Given the description of an element on the screen output the (x, y) to click on. 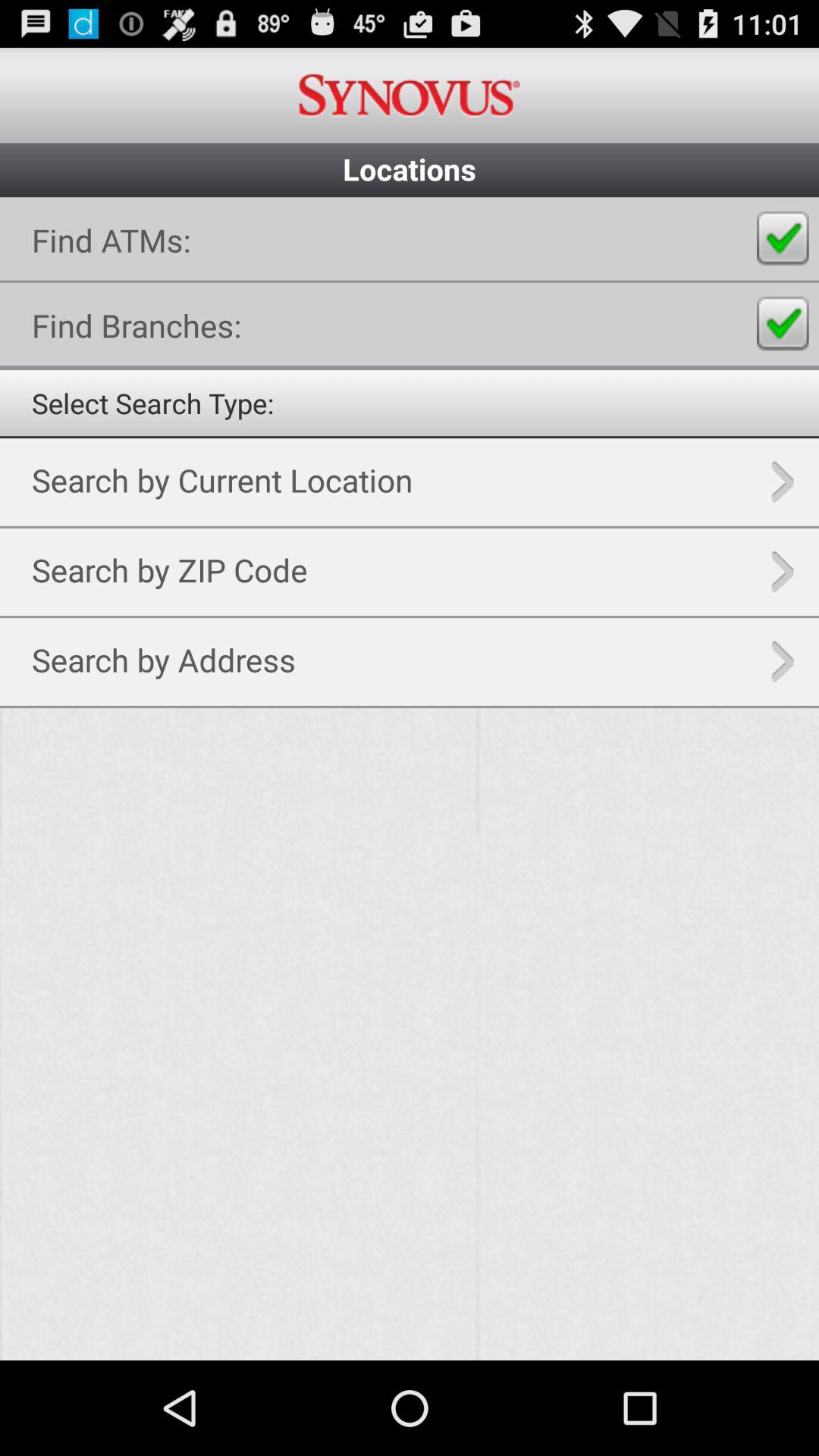
press the item to the right of find branches: icon (782, 323)
